Given the description of an element on the screen output the (x, y) to click on. 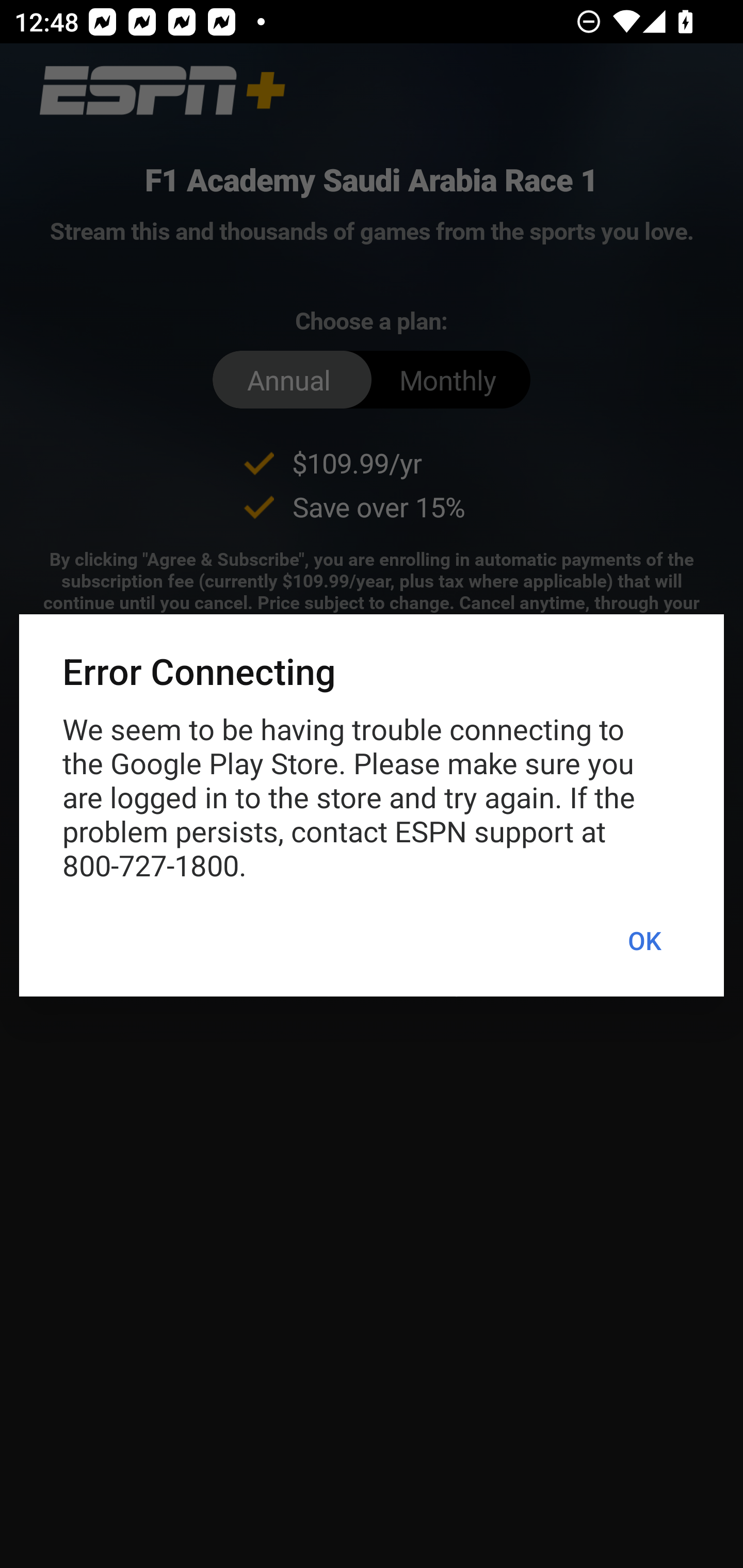
OK (644, 940)
